Given the description of an element on the screen output the (x, y) to click on. 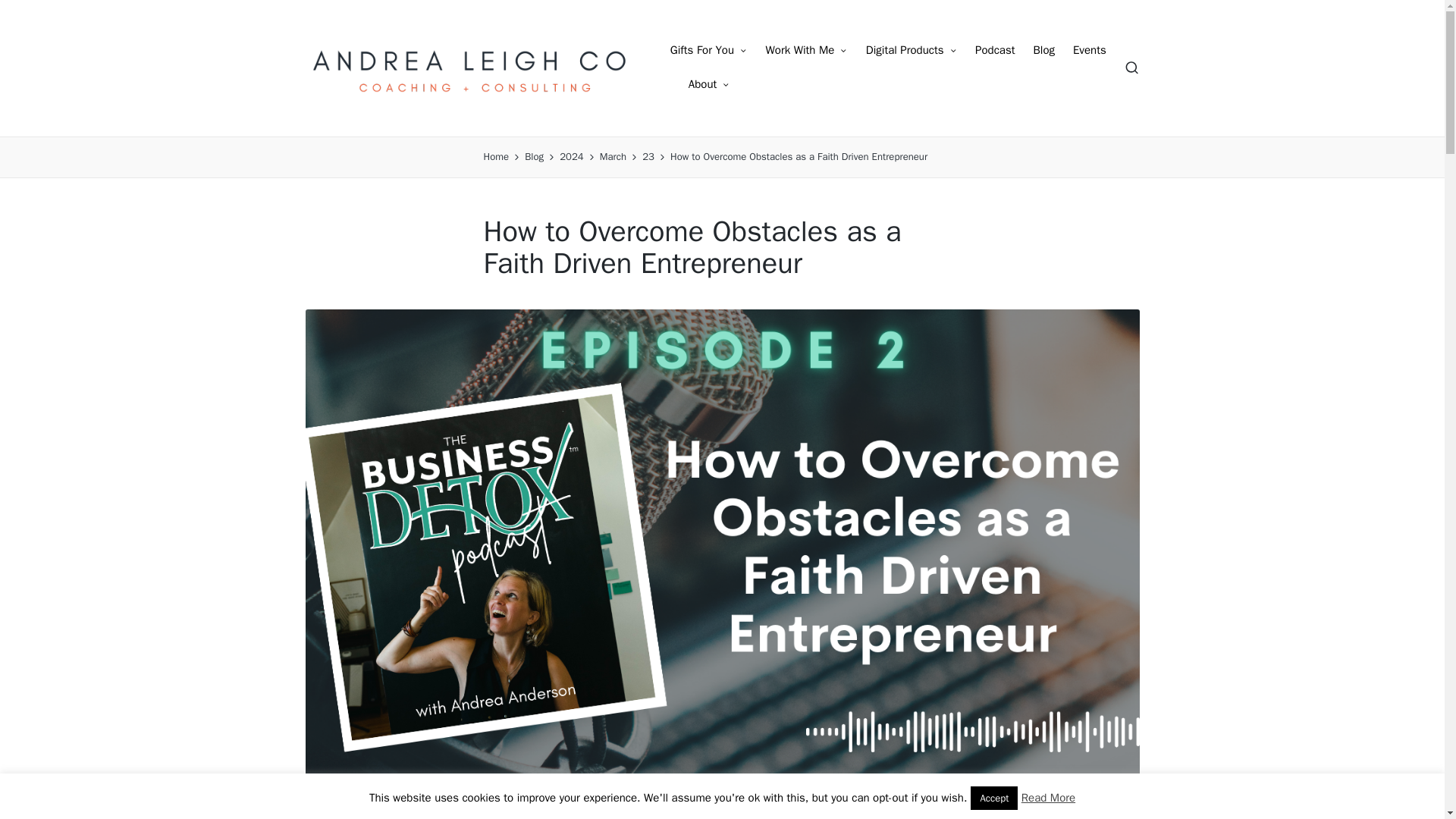
Podcast (994, 50)
About (709, 84)
Events (1089, 50)
Blog (1043, 50)
Home (496, 157)
Blog (533, 157)
Gifts For You (708, 50)
Work With Me (806, 50)
2024 (571, 157)
March (612, 157)
